Given the description of an element on the screen output the (x, y) to click on. 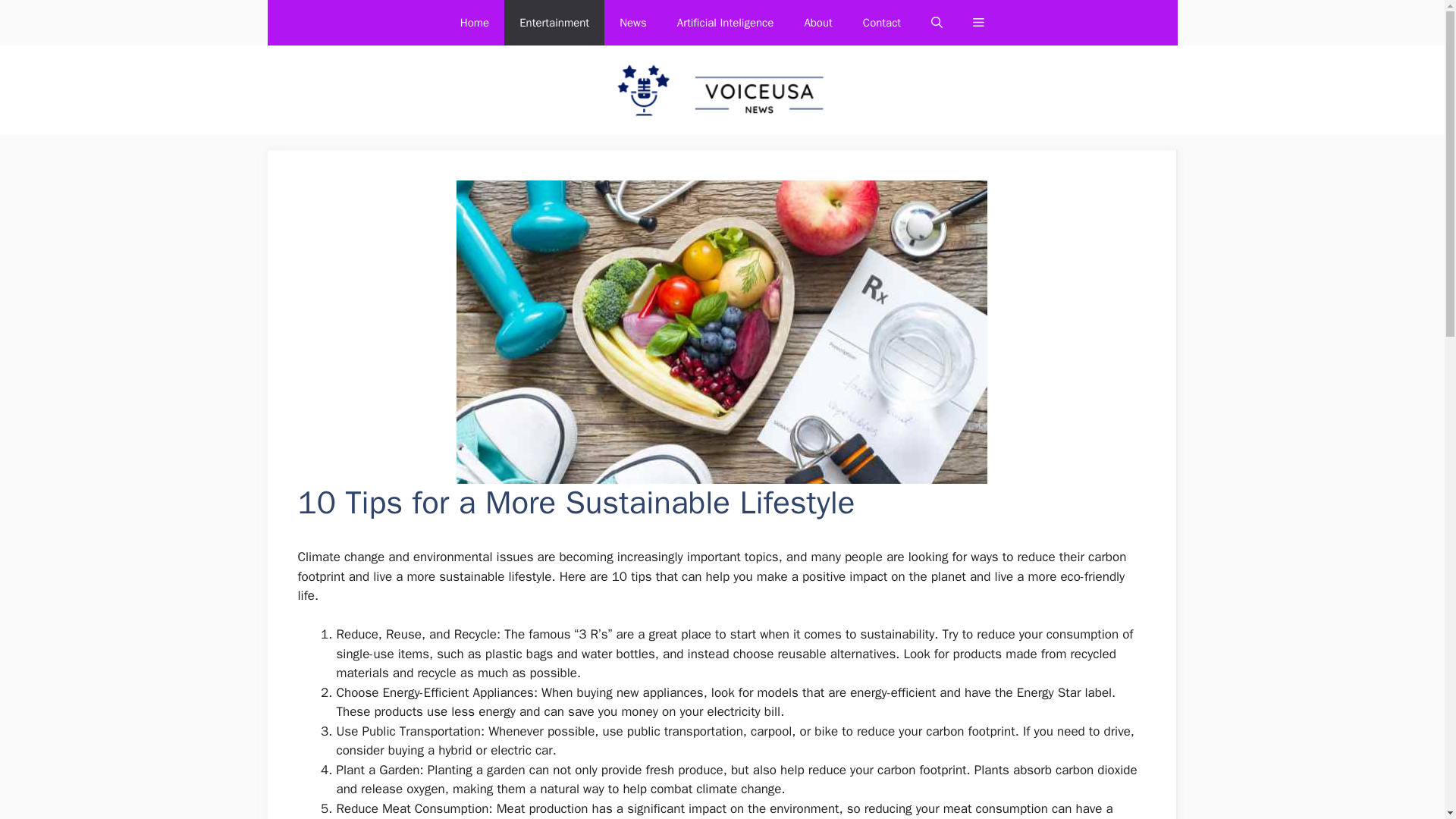
News (633, 22)
About (818, 22)
Home (474, 22)
Contact (881, 22)
Entertainment (553, 22)
Artificial Inteligence (725, 22)
